Given the description of an element on the screen output the (x, y) to click on. 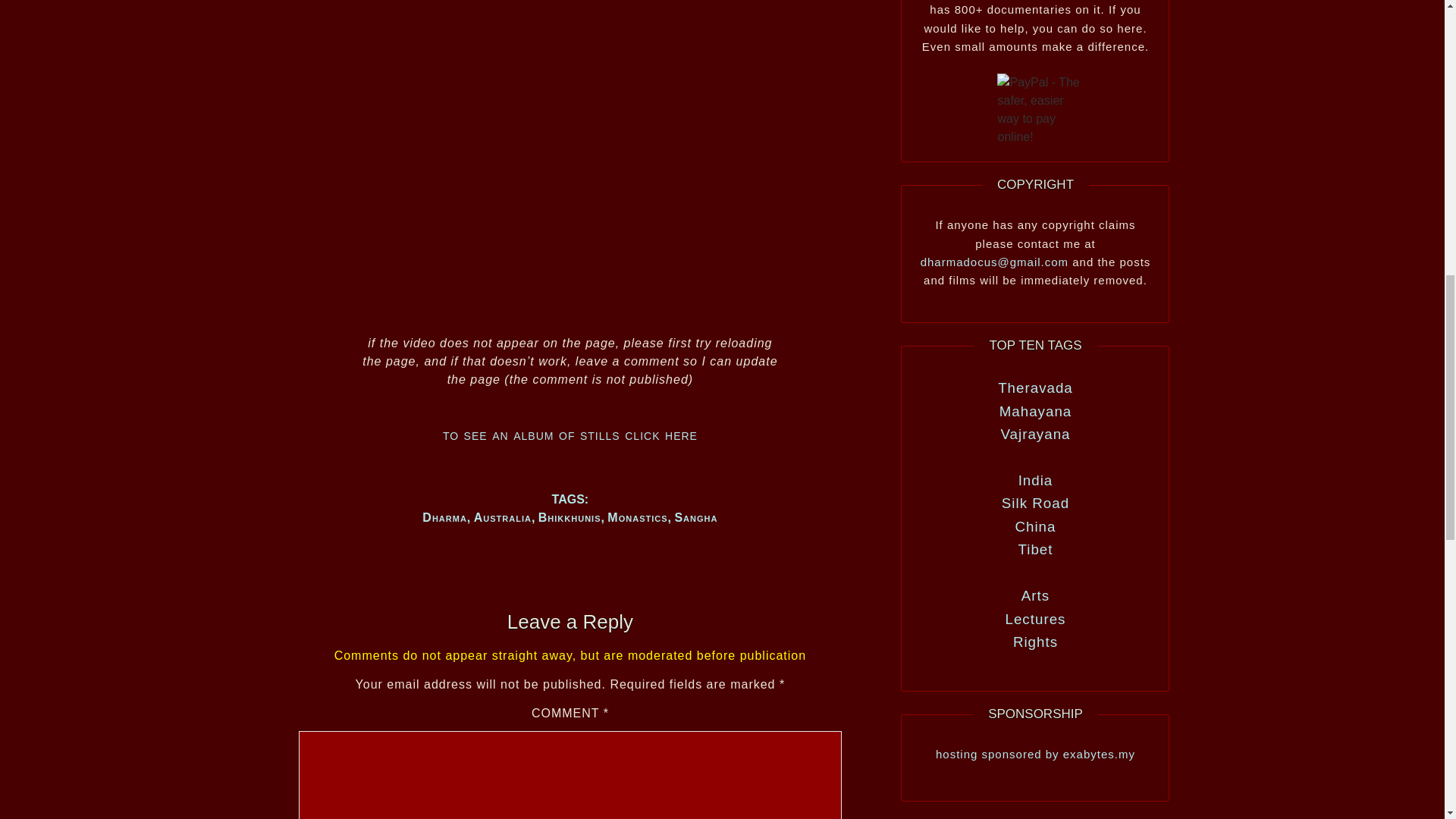
Monastics (636, 517)
Vajrayana (1035, 433)
India (1034, 480)
Dharma (444, 517)
Arts (1035, 595)
Silk Road (1034, 503)
Theravada (1035, 387)
 hosting sponsored by exabytes.my  (1034, 753)
Tibet (1034, 549)
Sangha (695, 517)
Mahayana (1034, 411)
China (1034, 526)
Australia (502, 517)
to see an album of stills click here (569, 434)
Rights (1035, 641)
